Given the description of an element on the screen output the (x, y) to click on. 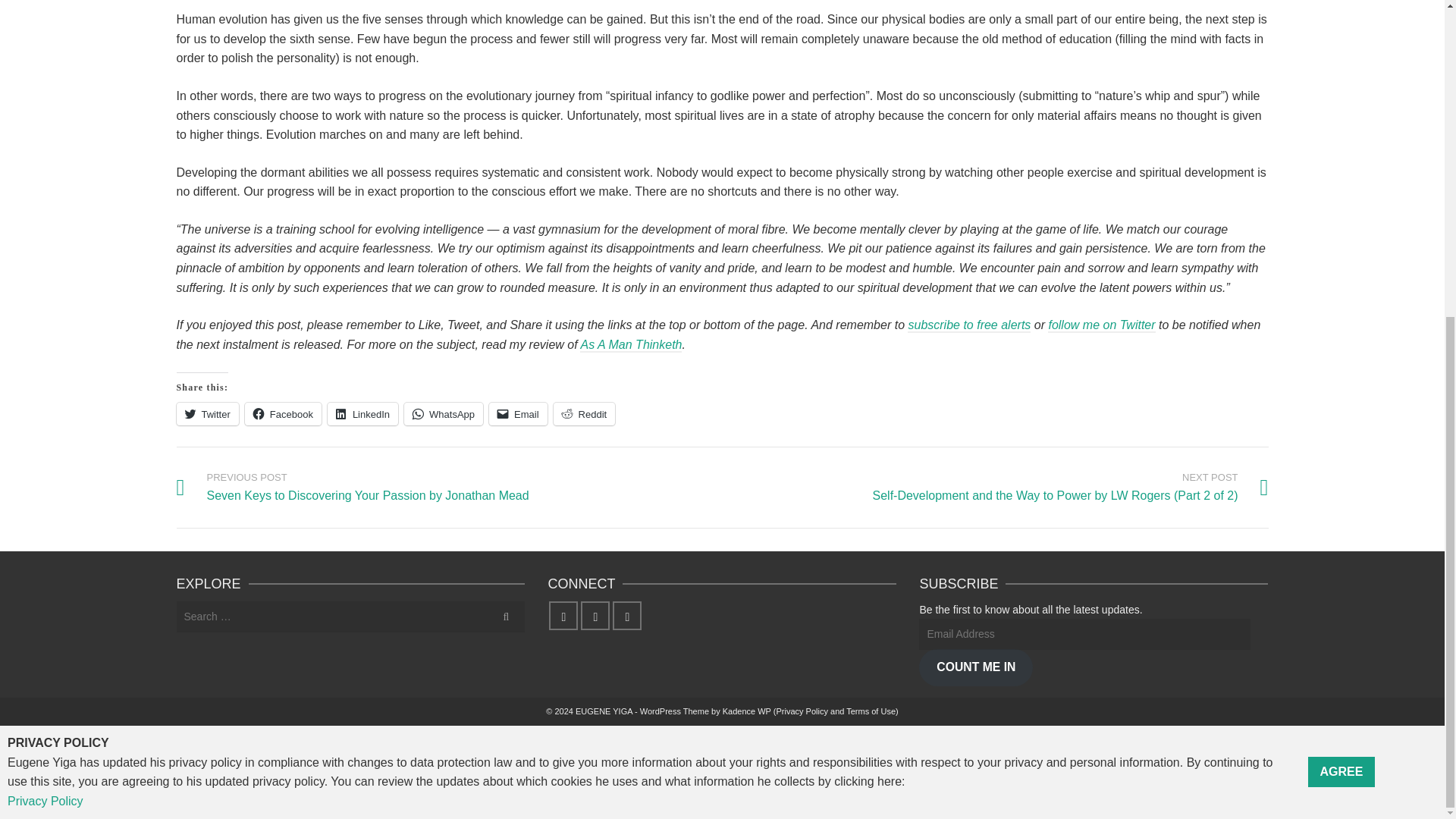
Click to share on WhatsApp (443, 413)
Twitter (207, 413)
Email (518, 413)
Click to share on LinkedIn (362, 413)
Archive (630, 345)
LinkedIn (362, 413)
Click to share on Reddit (584, 413)
Click to share on Twitter (207, 413)
As A Man Thinketh (630, 345)
Reddit (584, 413)
